Given the description of an element on the screen output the (x, y) to click on. 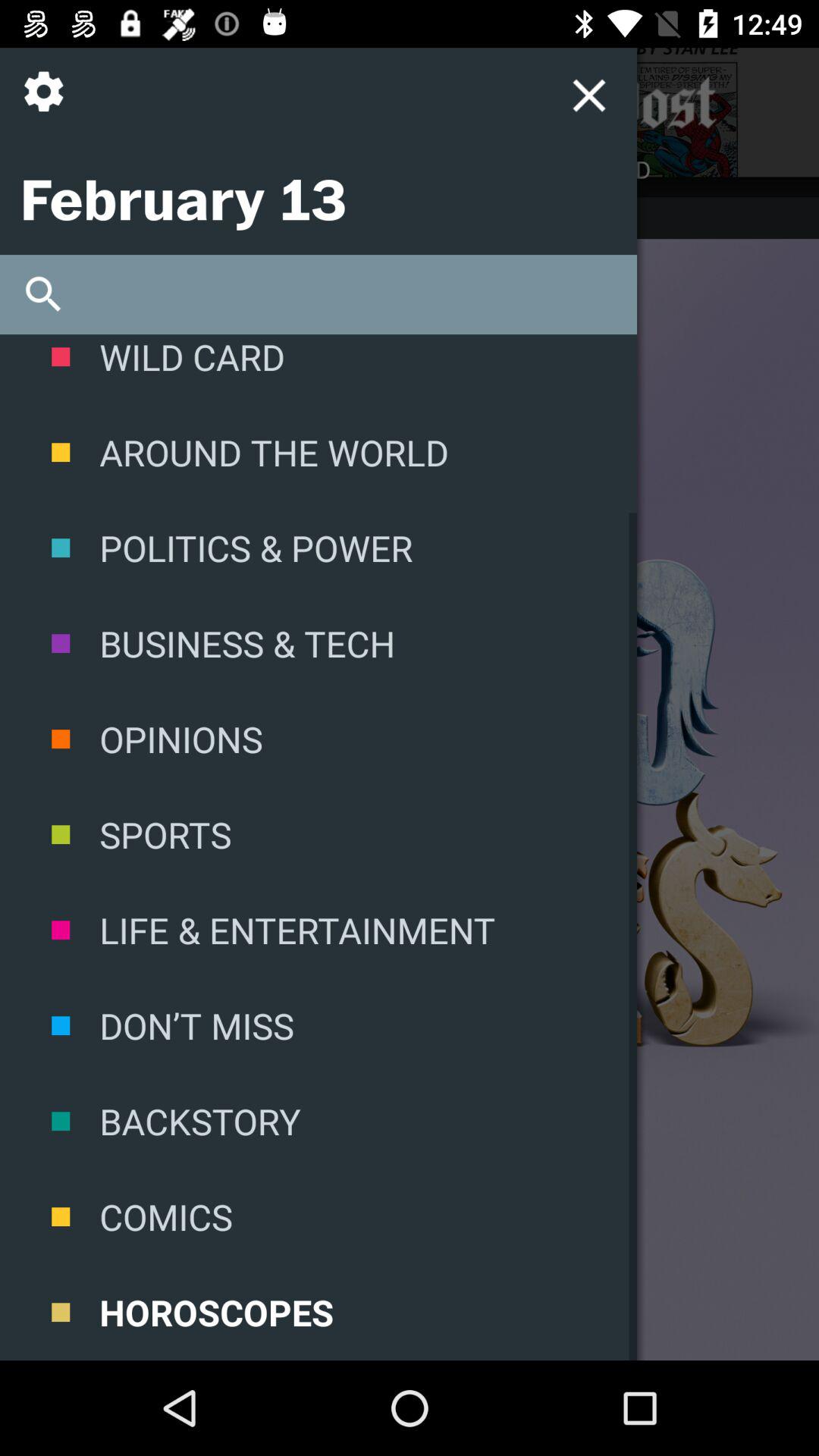
turn on politics & power (318, 547)
